Given the description of an element on the screen output the (x, y) to click on. 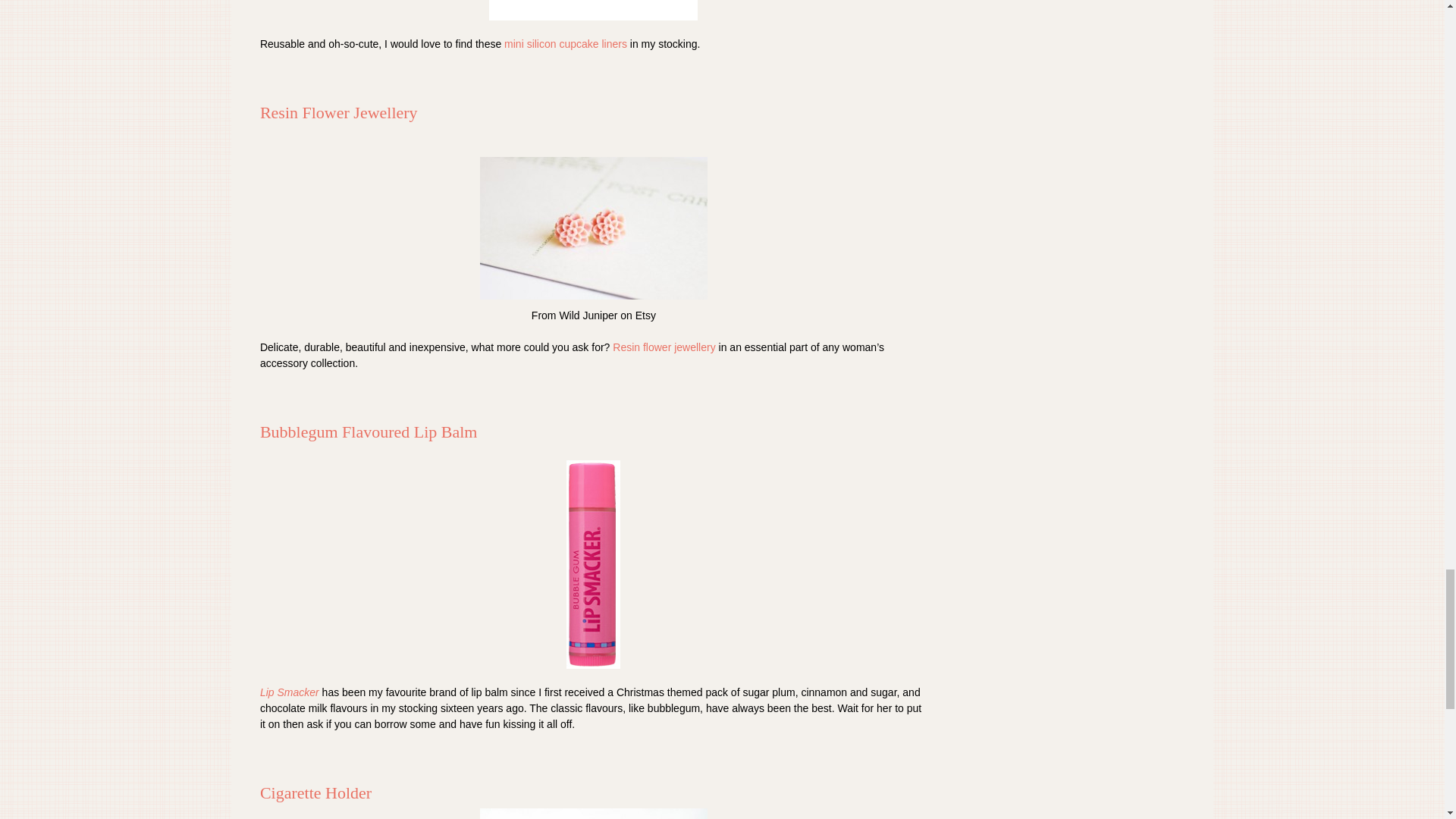
lip balm (593, 564)
baking cups (593, 10)
mini silicon cupcake liners (565, 43)
Resin Jewellery (593, 228)
Lip Smacker (289, 692)
Resin flower jewellery (663, 346)
cigarette holder (593, 813)
